Given the description of an element on the screen output the (x, y) to click on. 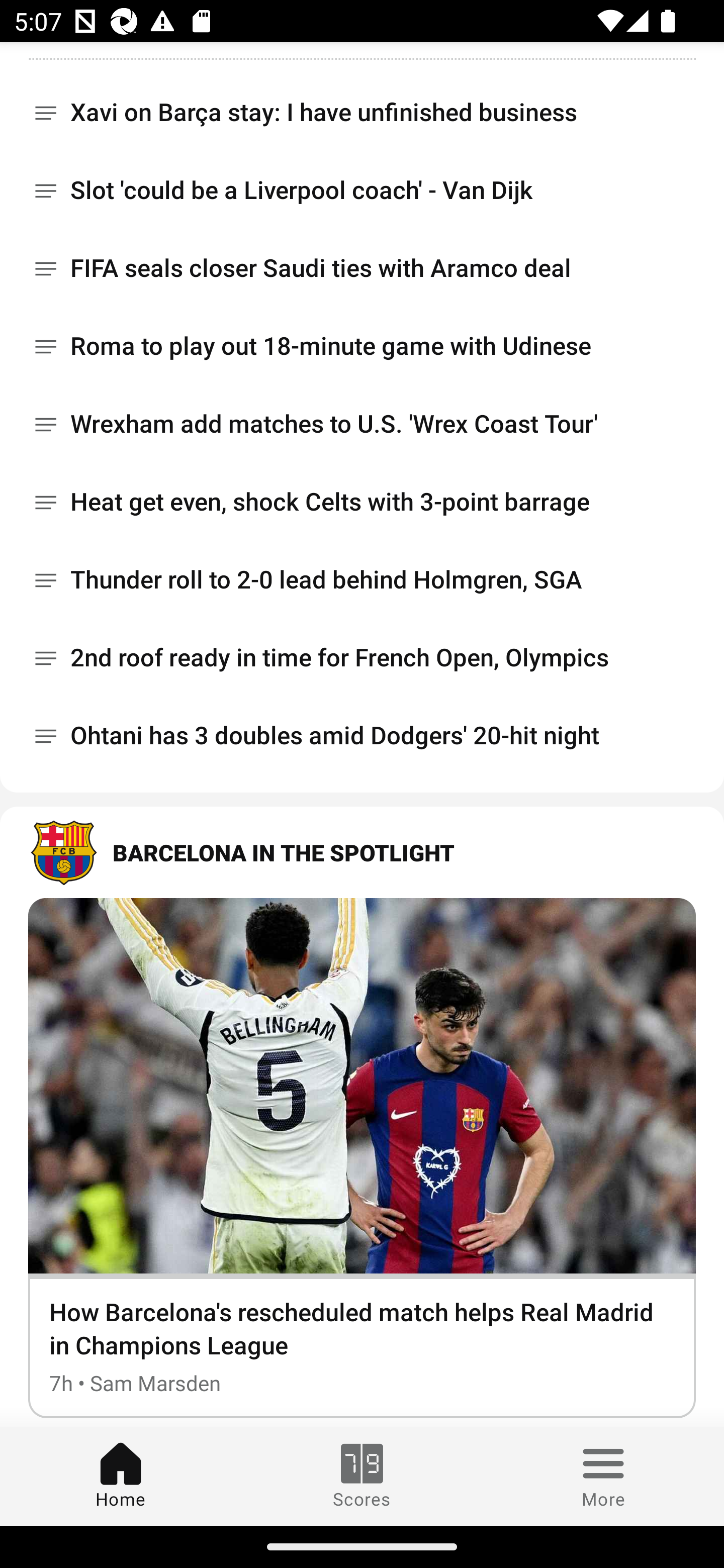
 Xavi on Barça stay: I have unfinished business (362, 105)
 Slot 'could be a Liverpool coach' - Van Dijk (362, 190)
 FIFA seals closer Saudi ties with Aramco deal (362, 267)
 Roma to play out 18-minute game with Udinese (362, 346)
 Wrexham add matches to U.S. 'Wrex Coast Tour' (362, 424)
 Heat get even, shock Celts with 3-point barrage (362, 502)
 Thunder roll to 2-0 lead behind Holmgren, SGA (362, 579)
 2nd roof ready in time for French Open, Olympics (362, 658)
 Ohtani has 3 doubles amid Dodgers' 20-hit night (362, 735)
Scores (361, 1475)
More (603, 1475)
